Given the description of an element on the screen output the (x, y) to click on. 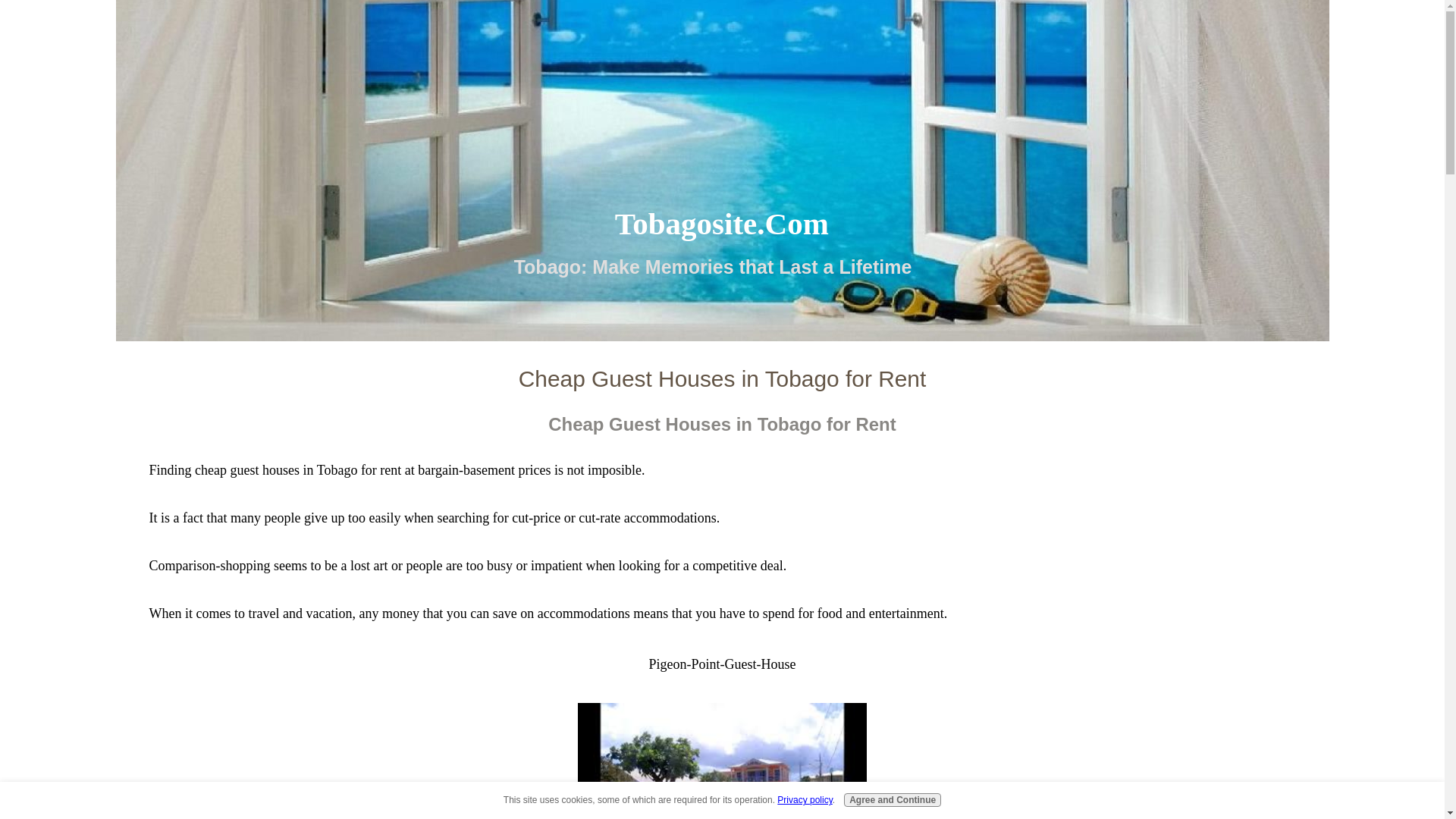
Agree and Continue (892, 799)
Tobagosite.Com (721, 223)
Privacy policy (804, 799)
